Given the description of an element on the screen output the (x, y) to click on. 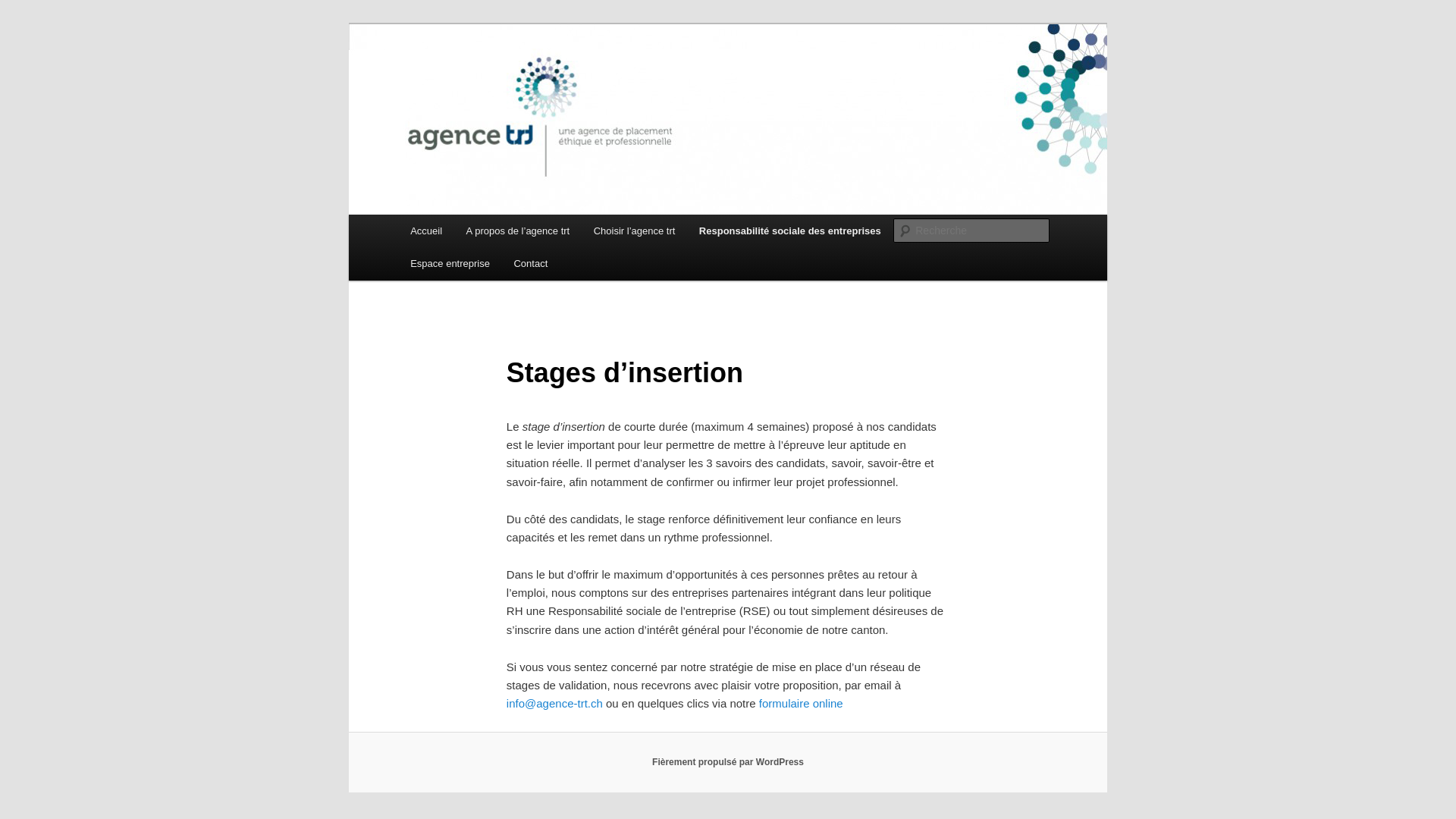
Agence-trt Element type: text (463, 78)
Espace entreprise Element type: text (449, 263)
Aller au contenu principal Element type: text (22, 22)
info@agence-trt.ch Element type: text (554, 702)
formulaire online Element type: text (801, 702)
Recherche Element type: text (33, 8)
Accueil Element type: text (425, 230)
Contact Element type: text (530, 263)
